Given the description of an element on the screen output the (x, y) to click on. 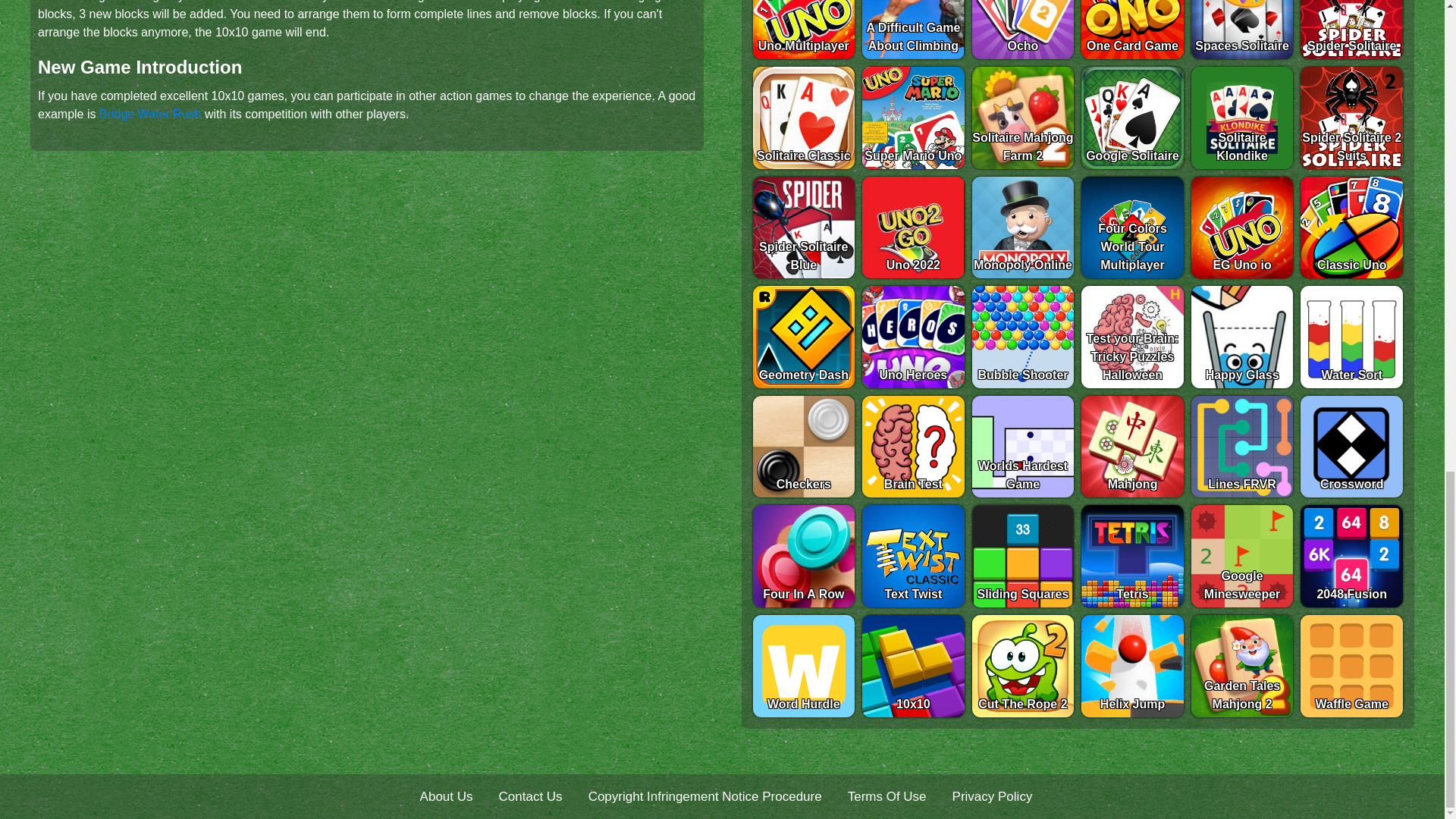
Bridge Water Rush (150, 113)
Uno Multiplayer (804, 29)
A Difficult Game About Climbing (913, 29)
One Card Game (1132, 29)
Ocho (1023, 29)
